Given the description of an element on the screen output the (x, y) to click on. 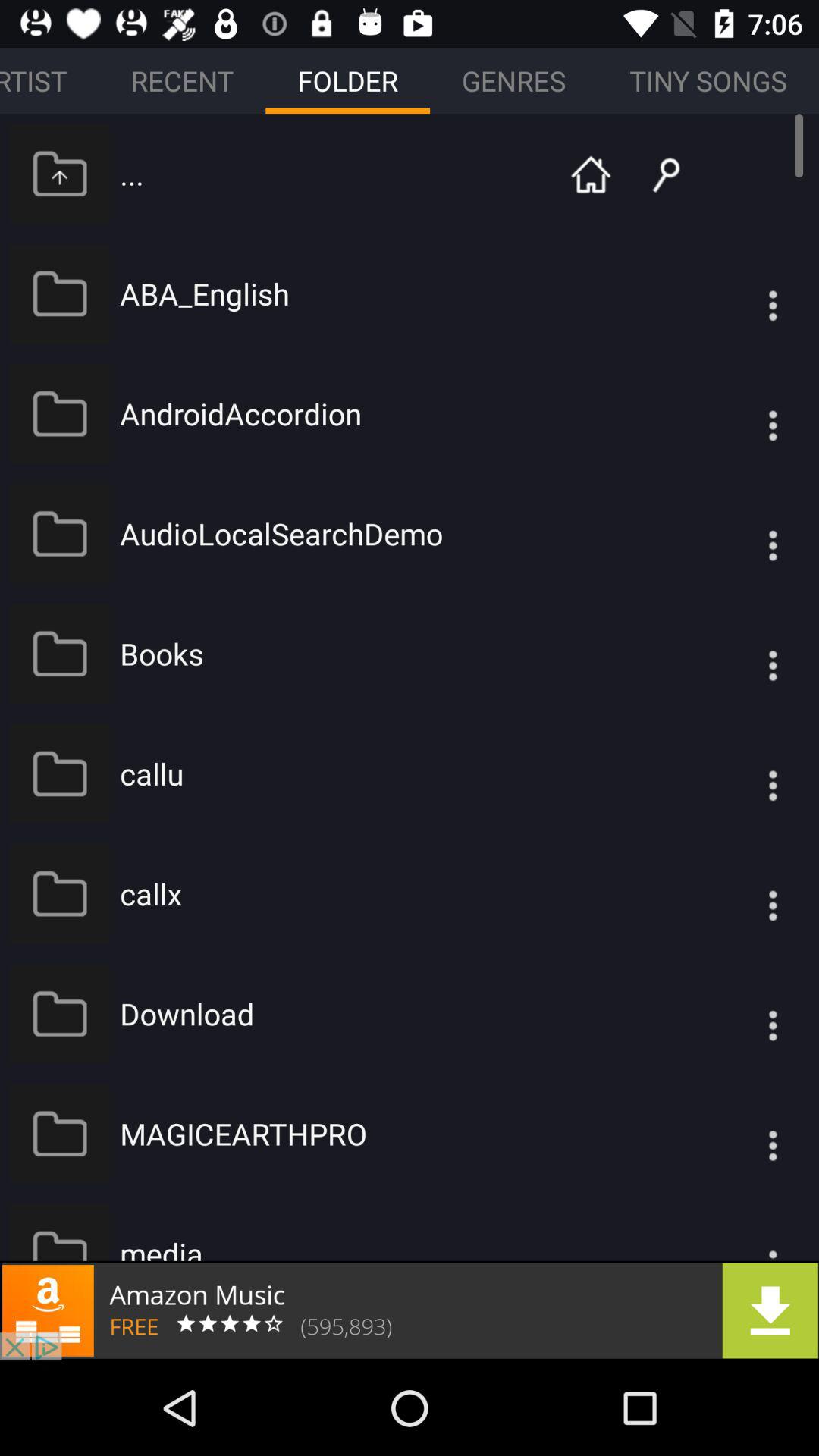
go to home (590, 173)
